Given the description of an element on the screen output the (x, y) to click on. 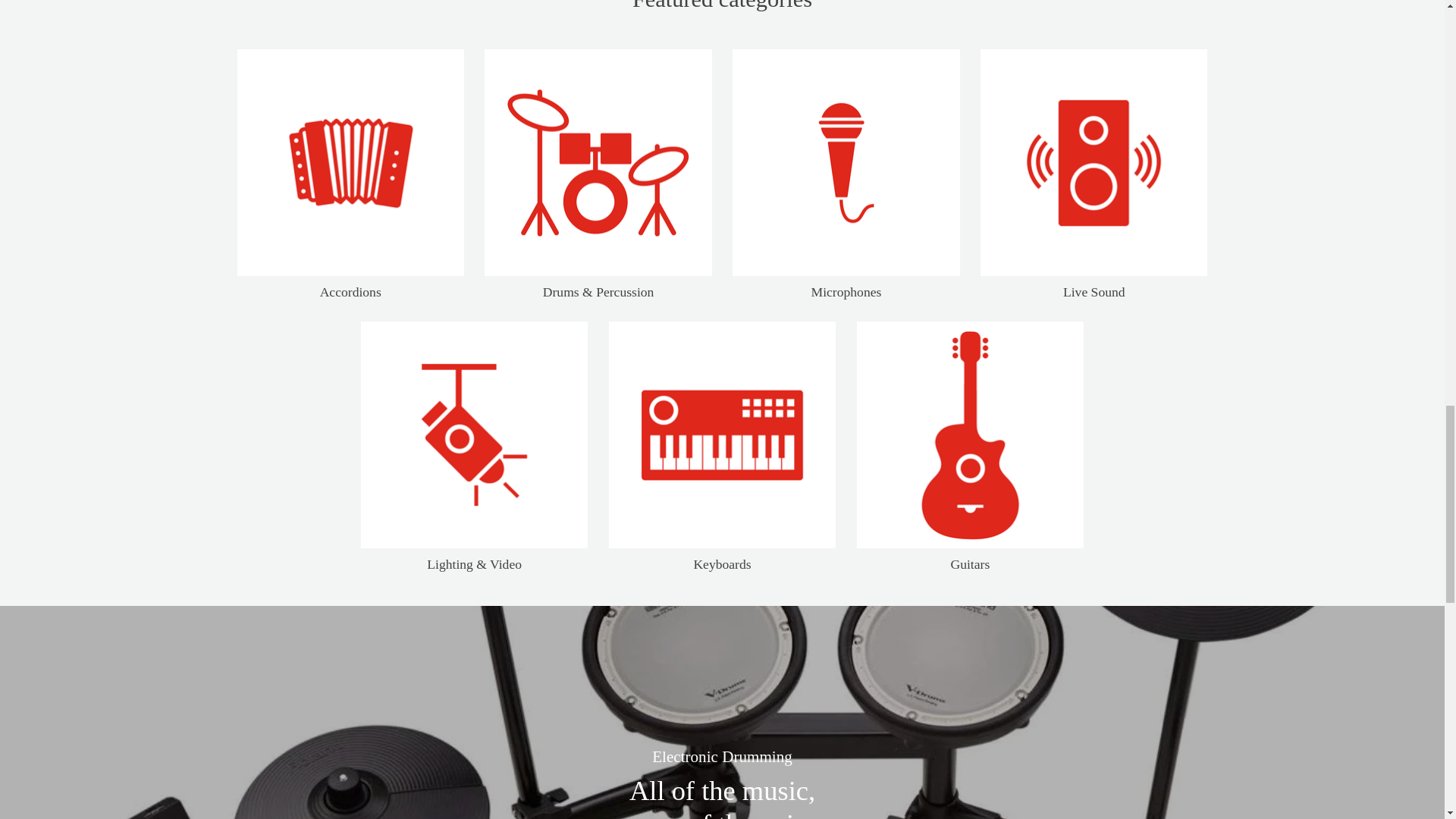
Accordions (350, 162)
Keyboards (721, 434)
Microphones (845, 162)
Guitars (970, 434)
Live Sound (1093, 162)
